Given the description of an element on the screen output the (x, y) to click on. 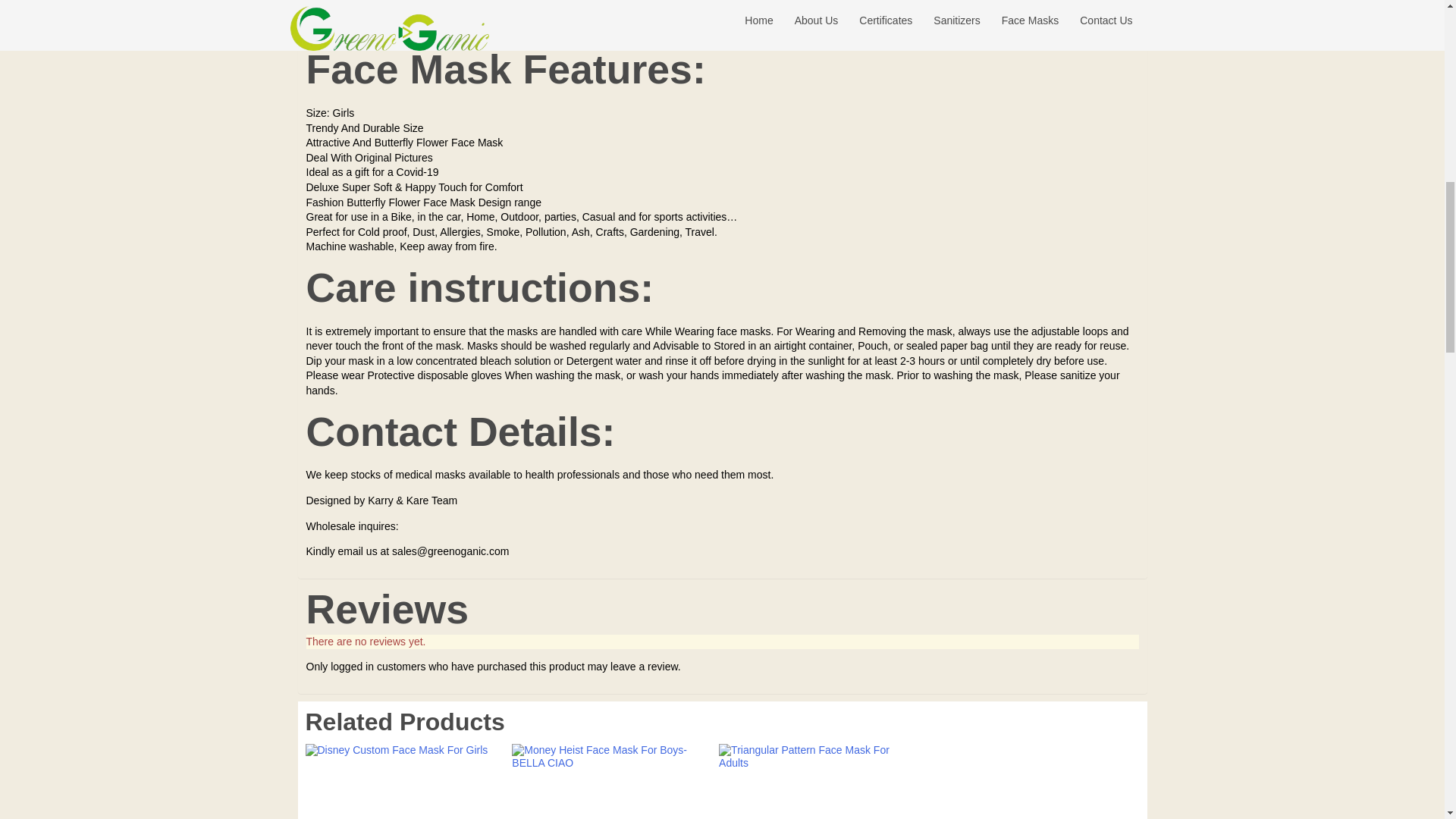
Triangular Pattern Face Mask For Adults (815, 781)
Disney Custom Face Mask For Girls (400, 781)
Money Heist Face Mask For Boys-BELLA CIAO (607, 781)
